Given the description of an element on the screen output the (x, y) to click on. 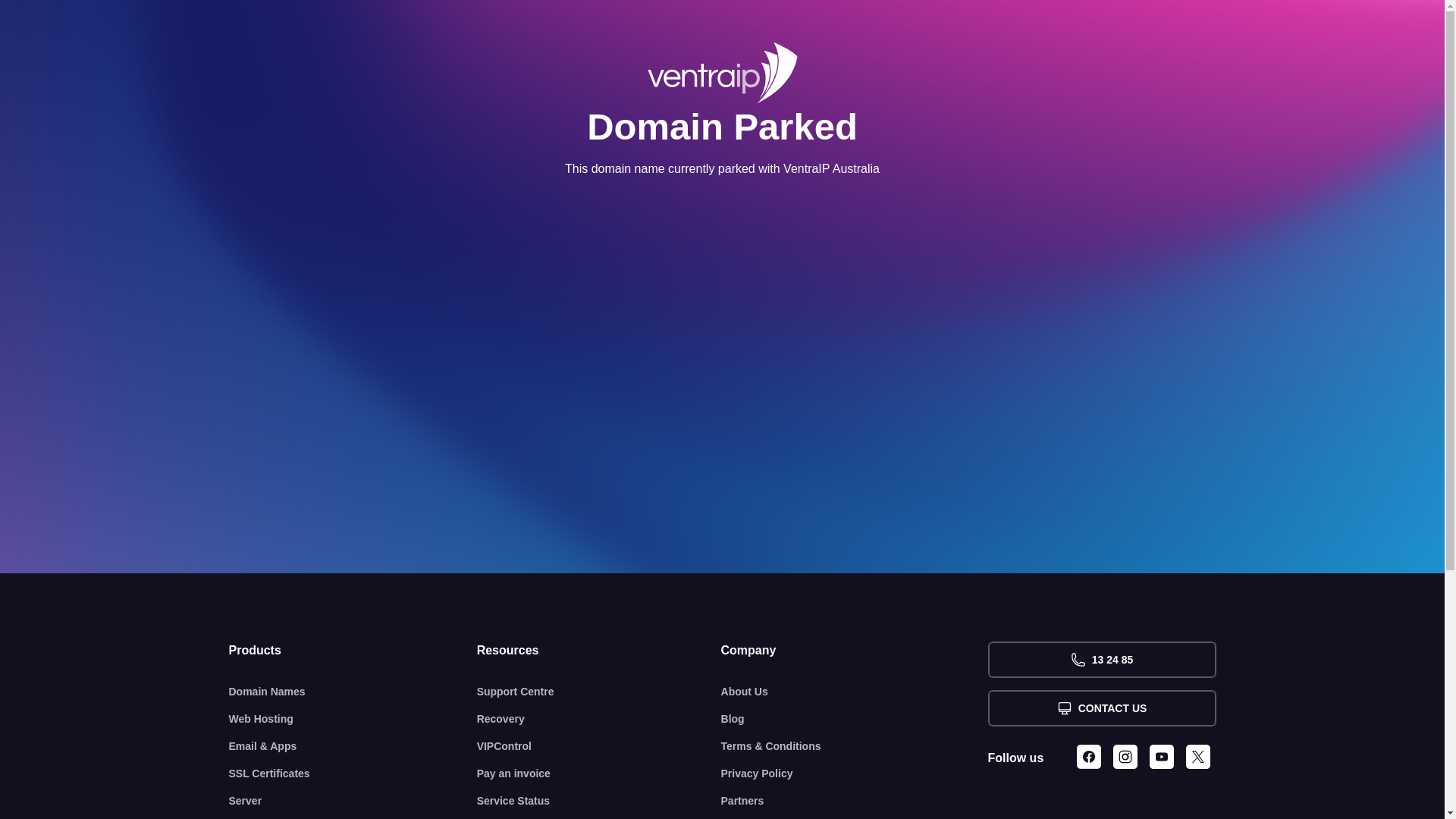
Web Hosting Element type: text (352, 718)
Pay an invoice Element type: text (598, 773)
CONTACT US Element type: text (1101, 708)
Support Centre Element type: text (598, 691)
Blog Element type: text (854, 718)
13 24 85 Element type: text (1101, 659)
Domain Names Element type: text (352, 691)
Email & Apps Element type: text (352, 745)
Server Element type: text (352, 800)
Recovery Element type: text (598, 718)
Privacy Policy Element type: text (854, 773)
VIPControl Element type: text (598, 745)
SSL Certificates Element type: text (352, 773)
Service Status Element type: text (598, 800)
About Us Element type: text (854, 691)
Terms & Conditions Element type: text (854, 745)
Partners Element type: text (854, 800)
